Given the description of an element on the screen output the (x, y) to click on. 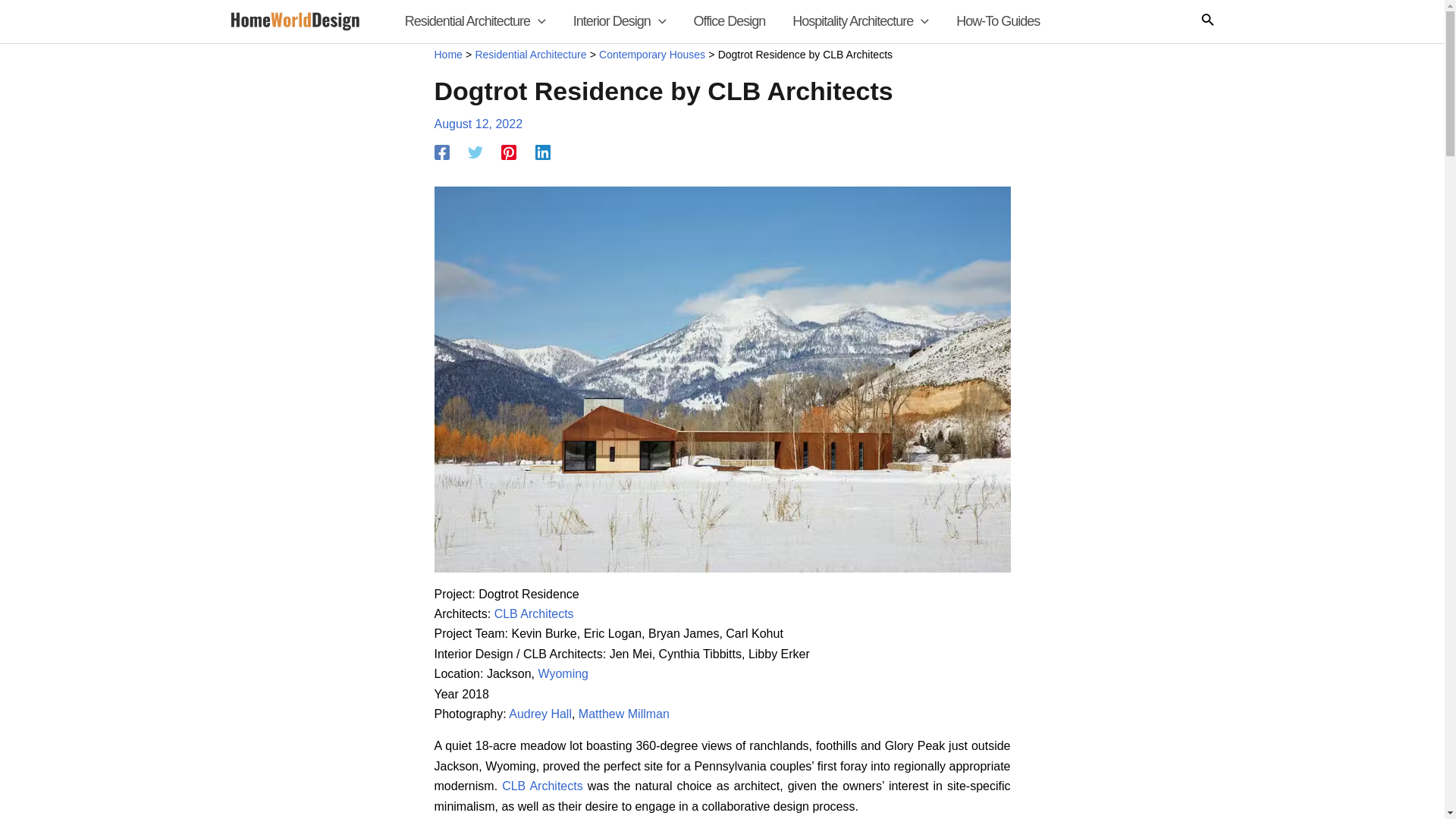
Residential Architecture (475, 21)
Hospitality Architecture (860, 21)
Office Design (728, 21)
Interior Design (619, 21)
How-To Guides (997, 21)
